Given the description of an element on the screen output the (x, y) to click on. 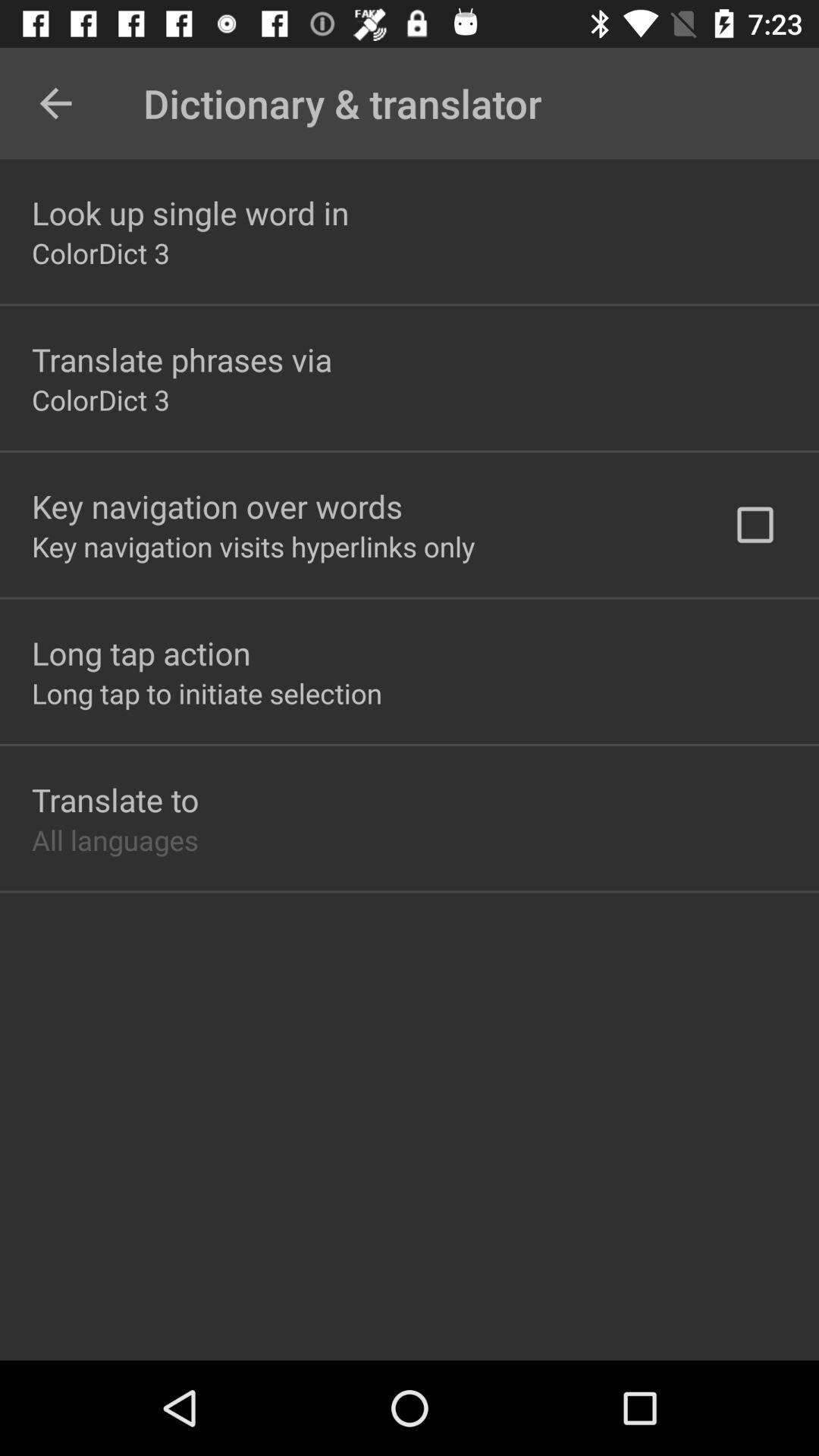
select icon above look up single icon (55, 103)
